Given the description of an element on the screen output the (x, y) to click on. 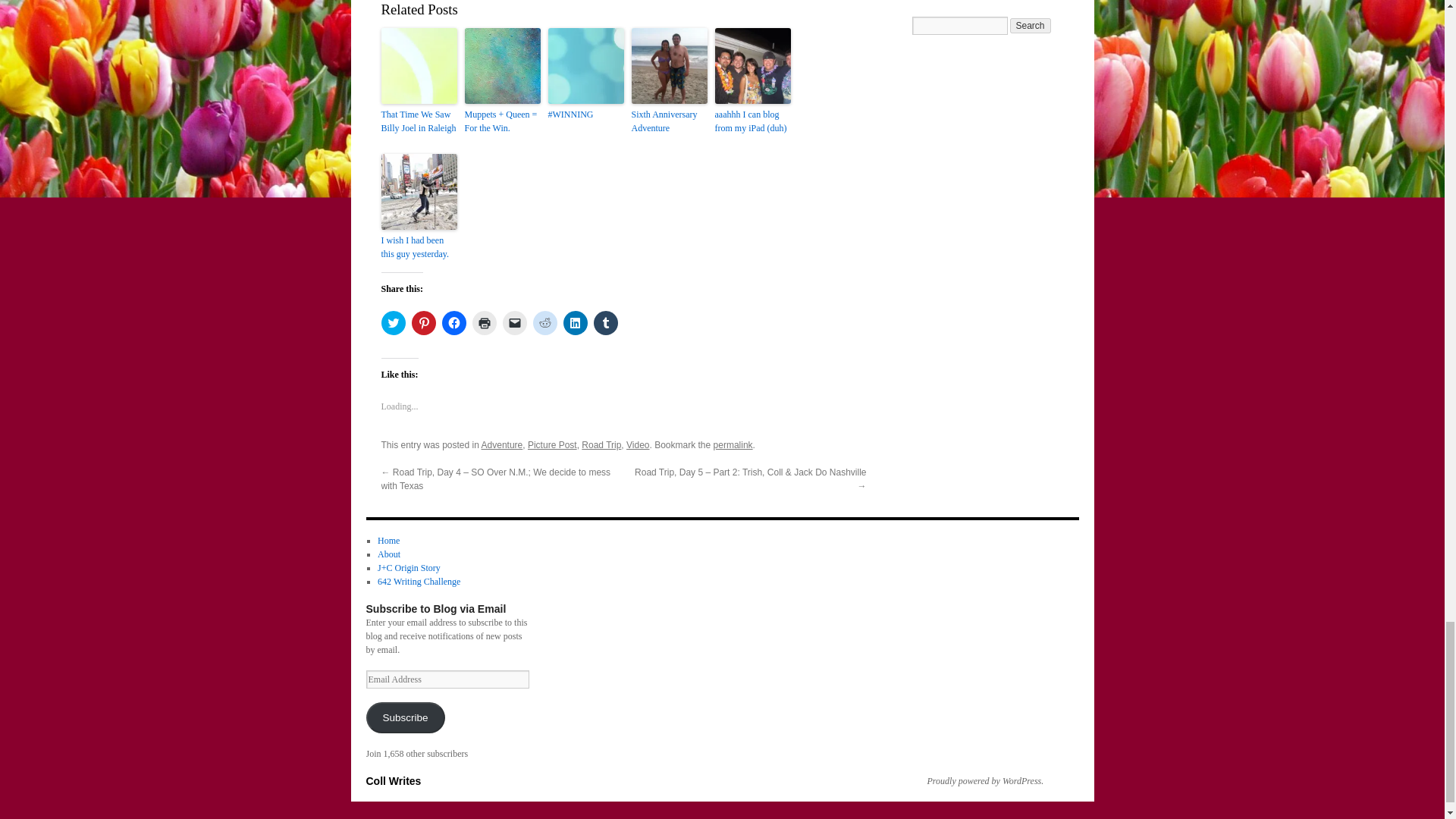
Search (1030, 25)
Click to share on LinkedIn (574, 322)
Road Trip (600, 444)
I wish I had been this guy yesterday. (418, 247)
Click to share on Tumblr (604, 322)
Click to print (483, 322)
That Time We Saw Billy Joel in Raleigh (418, 121)
Sixth Anniversary Adventure (668, 121)
Adventure (501, 444)
Click to share on Facebook (453, 322)
